Given the description of an element on the screen output the (x, y) to click on. 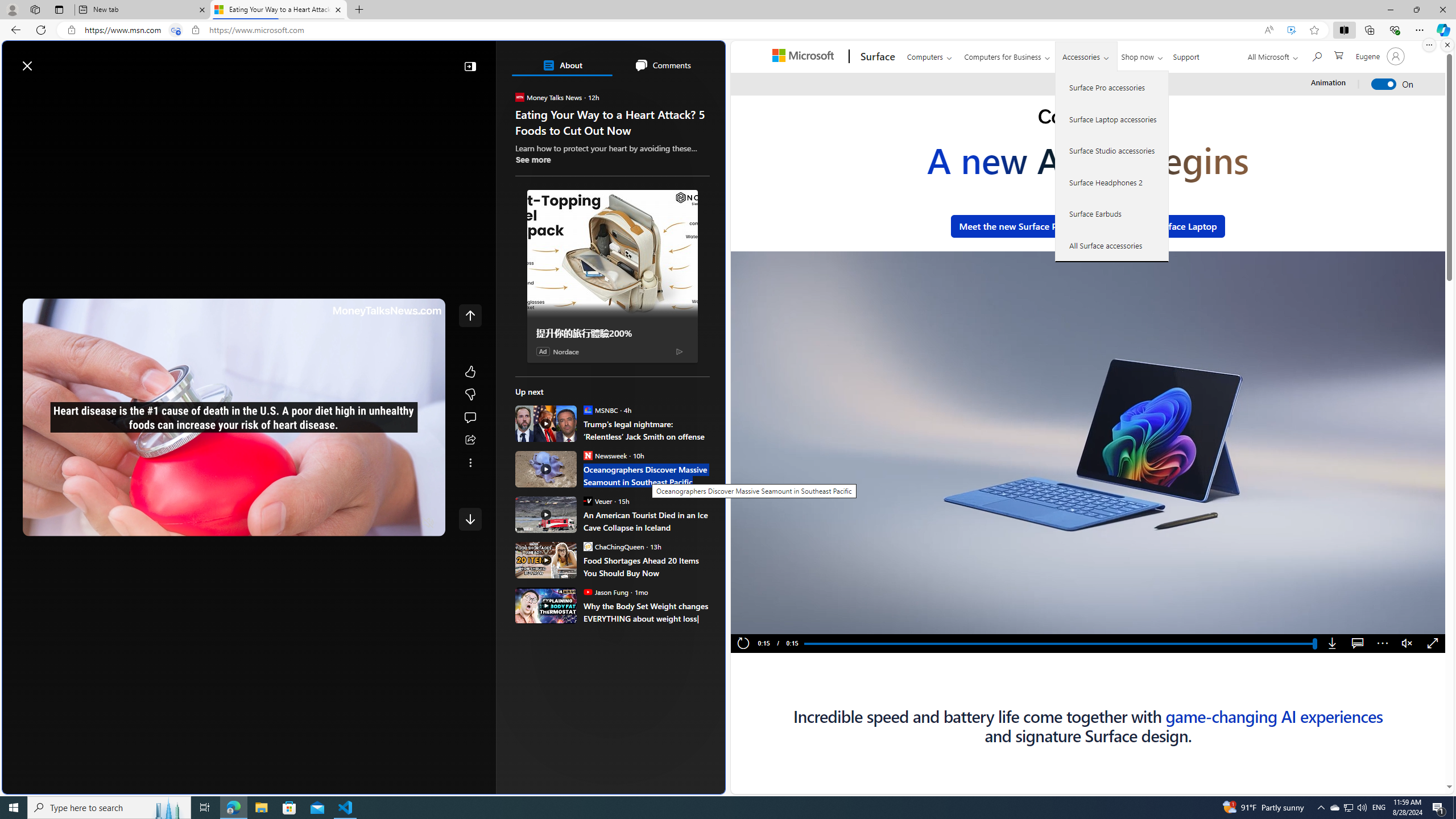
Share this story (469, 440)
Class: control icon-only (469, 315)
Class: control (469, 518)
All Surface accessories (1112, 245)
0 items in shopping cart (1338, 53)
Veuer Veuer (597, 500)
An American Tourist Died in an Ice Cave Collapse in Iceland (545, 514)
